Given the description of an element on the screen output the (x, y) to click on. 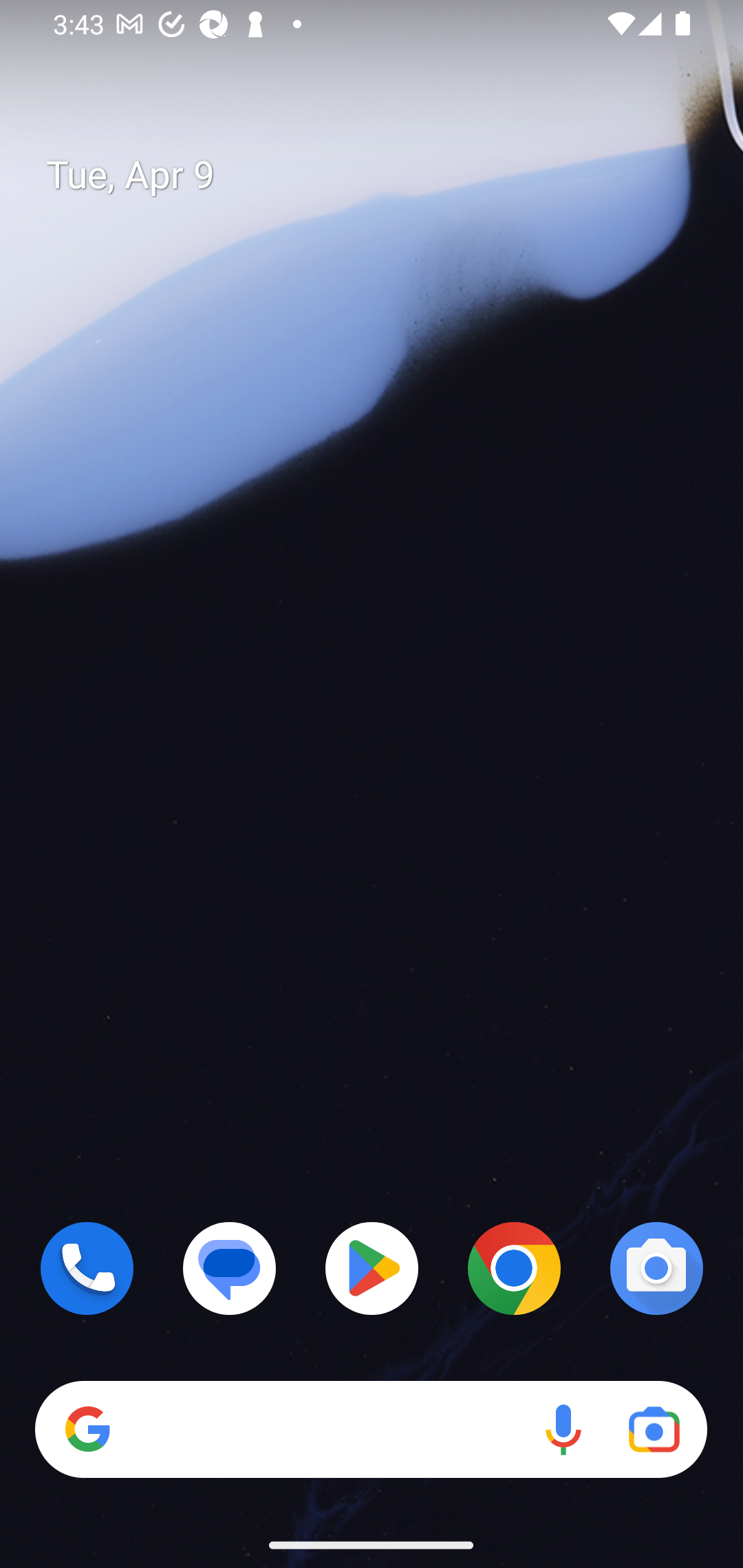
Tue, Apr 9 (386, 175)
Phone (86, 1268)
Messages (229, 1268)
Play Store (371, 1268)
Chrome (513, 1268)
Camera (656, 1268)
Search Voice search Google Lens (370, 1429)
Voice search (562, 1429)
Google Lens (653, 1429)
